Given the description of an element on the screen output the (x, y) to click on. 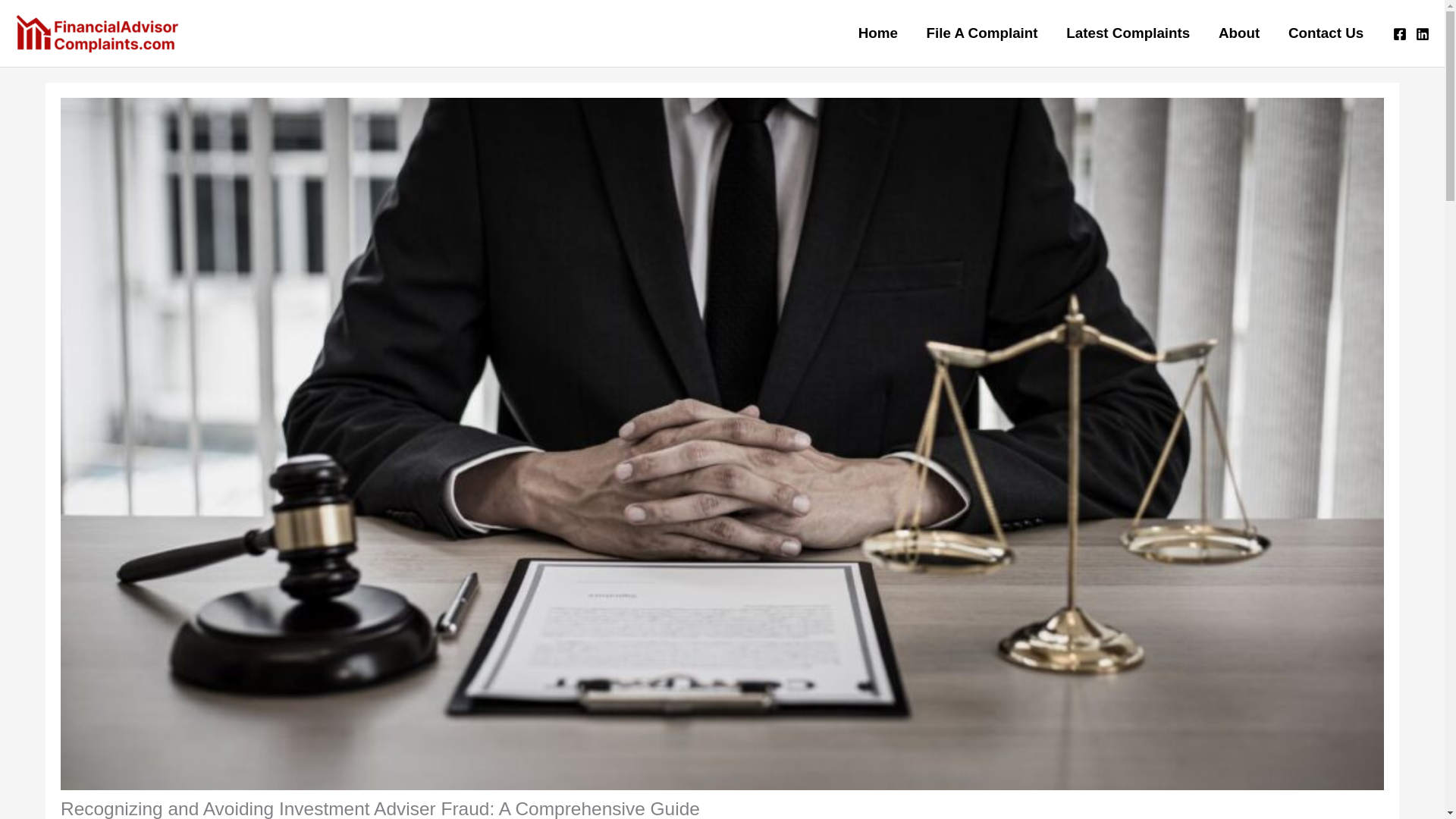
Latest Complaints (1127, 33)
Home (878, 33)
File A Complaint (982, 33)
About (1239, 33)
Contact Us (1325, 33)
